Given the description of an element on the screen output the (x, y) to click on. 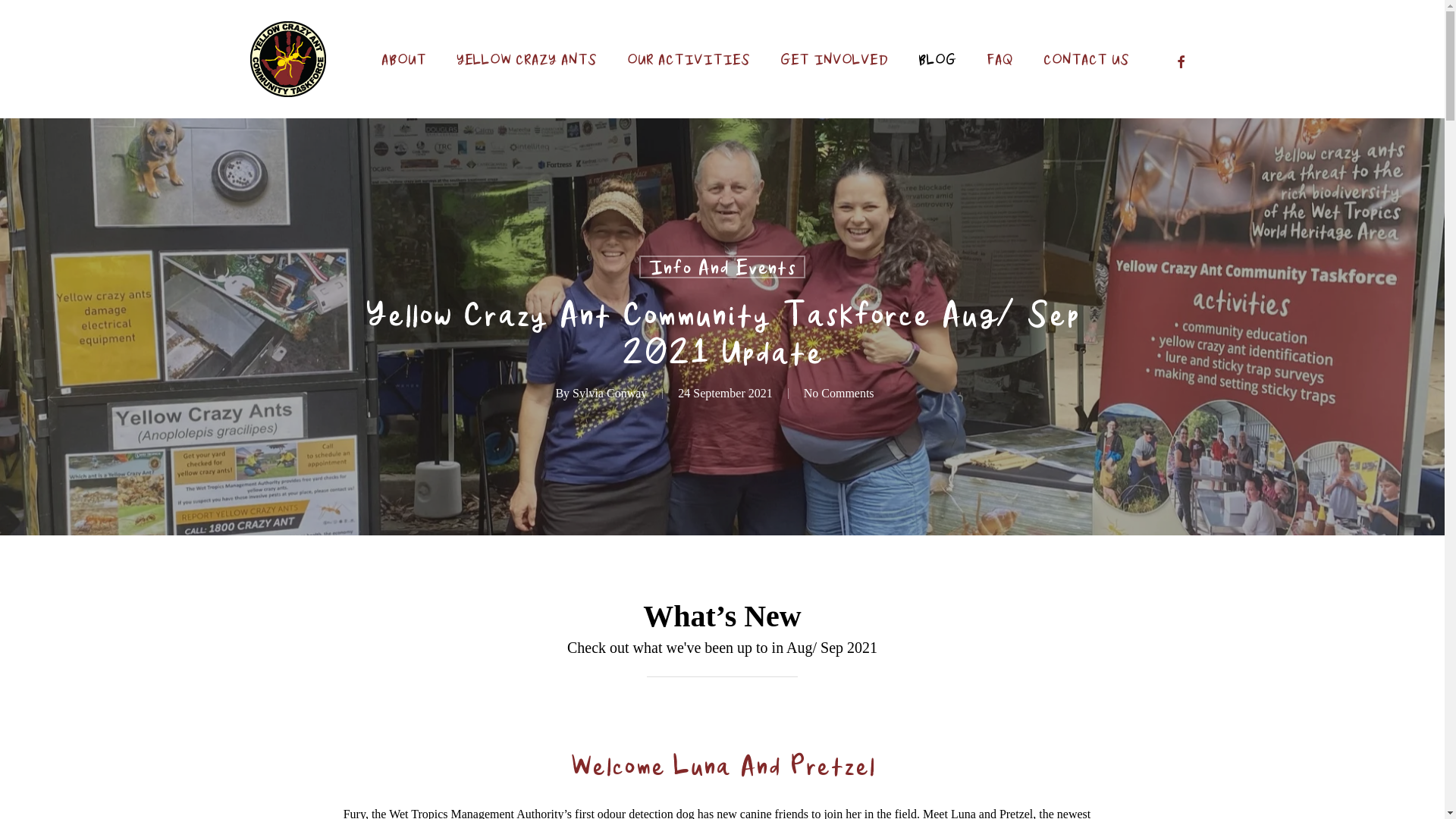
OUR ACTIVITIES Element type: text (688, 58)
Sylvia Conway Element type: text (609, 392)
No Comments Element type: text (838, 392)
BLOG Element type: text (937, 58)
FAQ Element type: text (999, 58)
FACEBOOK Element type: text (1180, 58)
CONTACT US Element type: text (1086, 58)
GET INVOLVED Element type: text (834, 58)
ABOUT Element type: text (403, 58)
Info And Events Element type: text (721, 266)
YELLOW CRAZY ANTS Element type: text (526, 58)
